Given the description of an element on the screen output the (x, y) to click on. 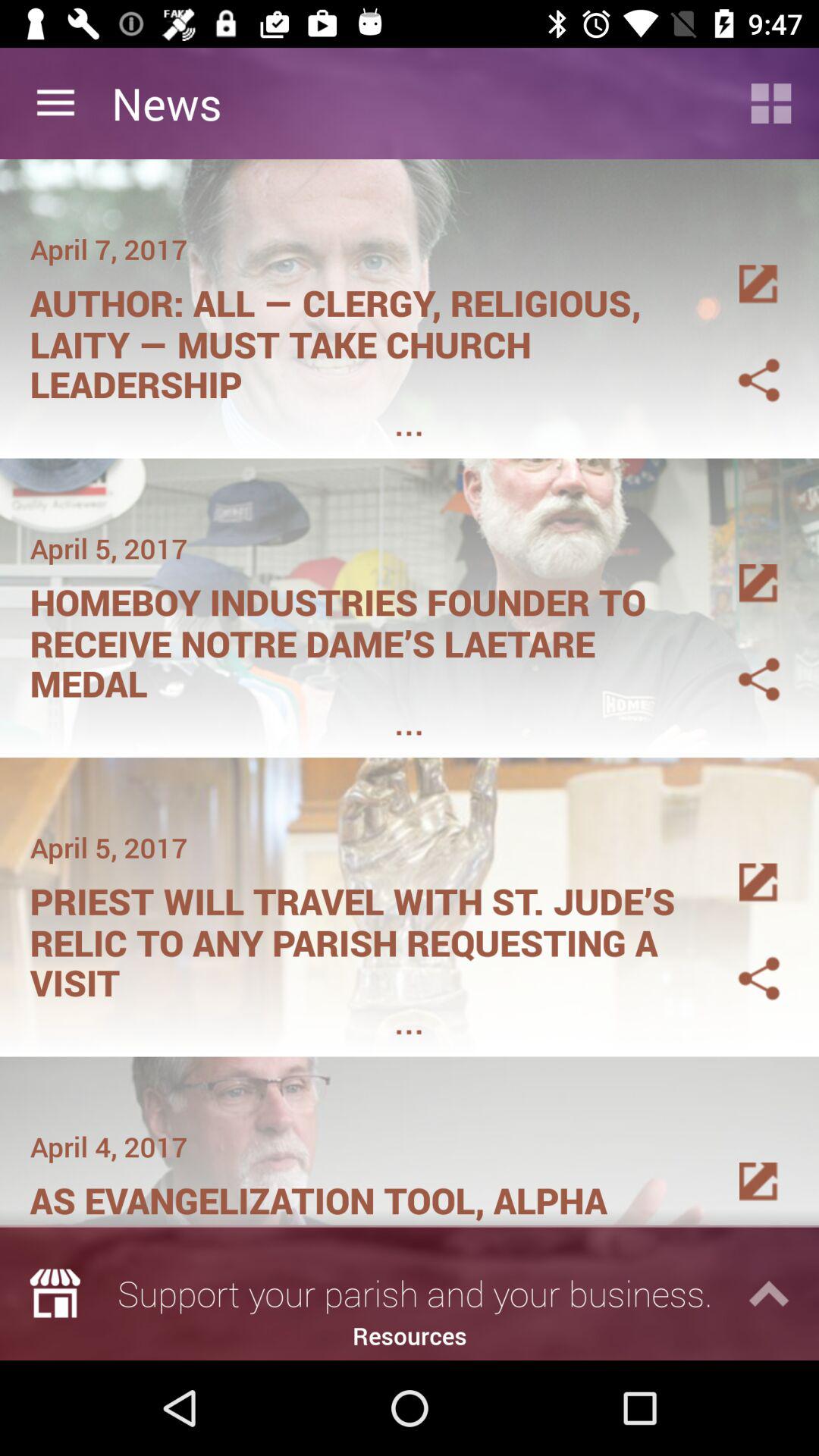
jump until the as evangelization tool item (361, 1195)
